Given the description of an element on the screen output the (x, y) to click on. 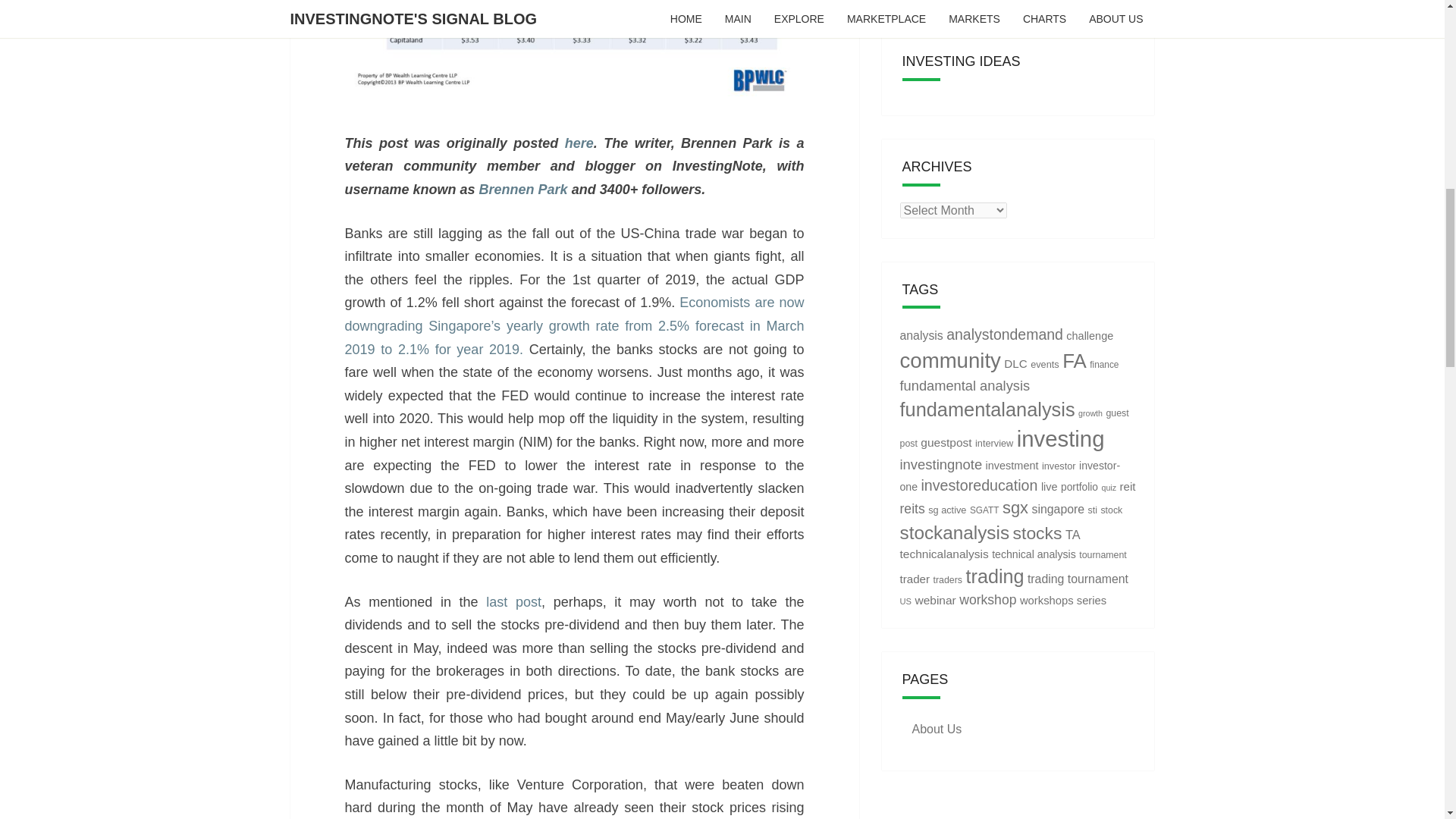
Brennen Park (523, 189)
here (579, 142)
last post (513, 601)
